Given the description of an element on the screen output the (x, y) to click on. 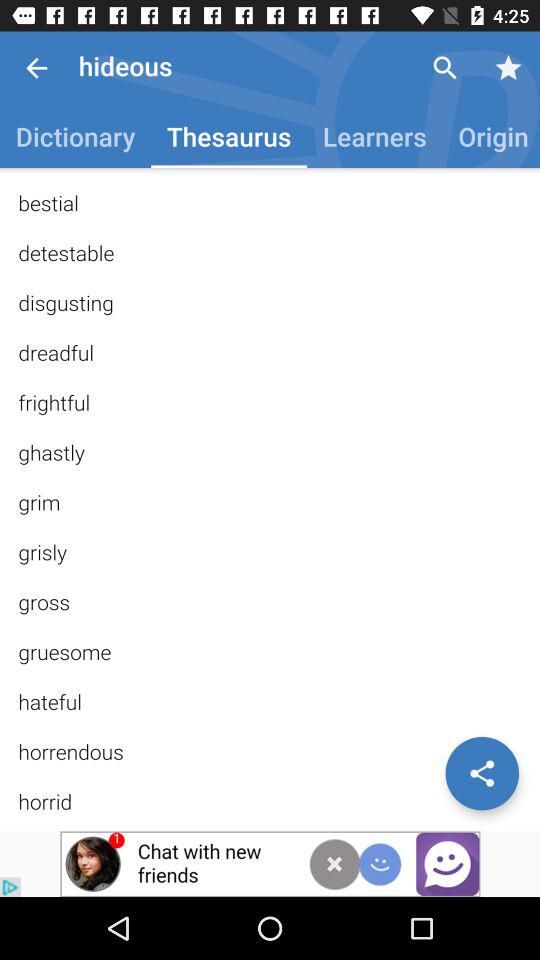
share (482, 773)
